Given the description of an element on the screen output the (x, y) to click on. 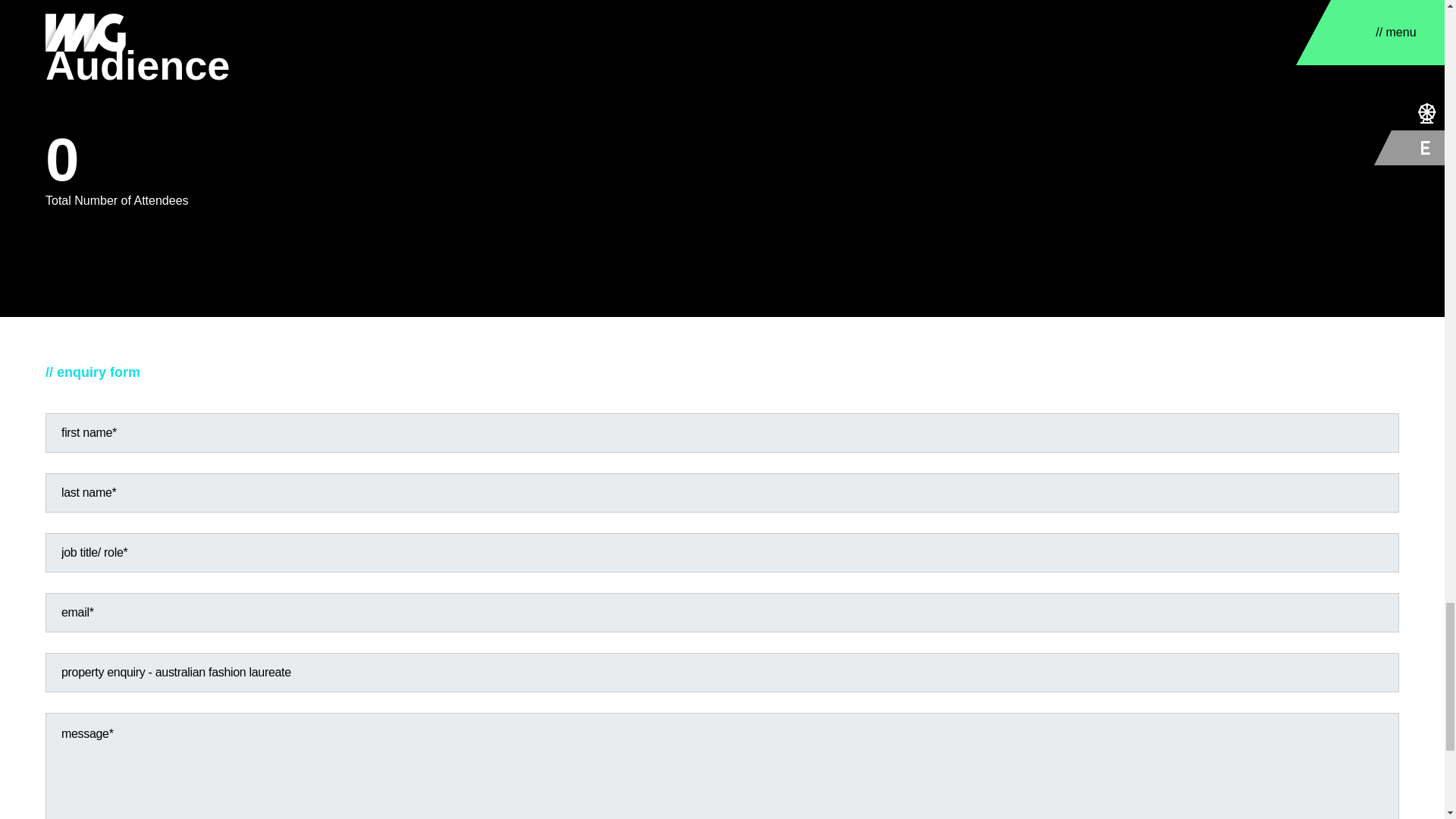
property enquiry - australian fashion laureate (722, 672)
